Given the description of an element on the screen output the (x, y) to click on. 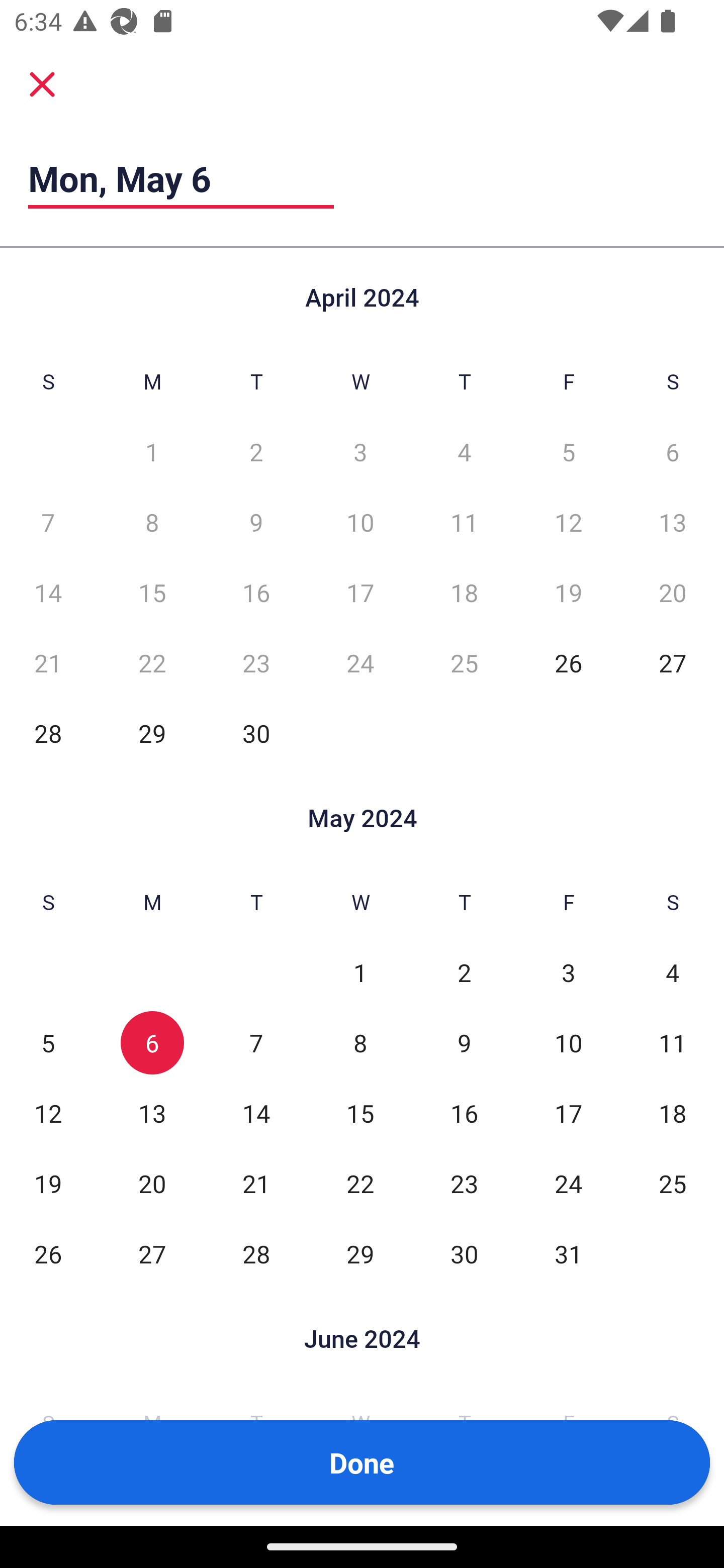
Cancel (41, 83)
Mon, May 6 (180, 178)
1 Mon, Apr 1, Not Selected (152, 452)
2 Tue, Apr 2, Not Selected (256, 452)
3 Wed, Apr 3, Not Selected (360, 452)
4 Thu, Apr 4, Not Selected (464, 452)
5 Fri, Apr 5, Not Selected (568, 452)
6 Sat, Apr 6, Not Selected (672, 452)
7 Sun, Apr 7, Not Selected (48, 521)
8 Mon, Apr 8, Not Selected (152, 521)
9 Tue, Apr 9, Not Selected (256, 521)
10 Wed, Apr 10, Not Selected (360, 521)
11 Thu, Apr 11, Not Selected (464, 521)
12 Fri, Apr 12, Not Selected (568, 521)
13 Sat, Apr 13, Not Selected (672, 521)
14 Sun, Apr 14, Not Selected (48, 591)
15 Mon, Apr 15, Not Selected (152, 591)
16 Tue, Apr 16, Not Selected (256, 591)
17 Wed, Apr 17, Not Selected (360, 591)
18 Thu, Apr 18, Not Selected (464, 591)
19 Fri, Apr 19, Not Selected (568, 591)
20 Sat, Apr 20, Not Selected (672, 591)
21 Sun, Apr 21, Not Selected (48, 662)
22 Mon, Apr 22, Not Selected (152, 662)
23 Tue, Apr 23, Not Selected (256, 662)
24 Wed, Apr 24, Not Selected (360, 662)
25 Thu, Apr 25, Not Selected (464, 662)
26 Fri, Apr 26, Not Selected (568, 662)
27 Sat, Apr 27, Not Selected (672, 662)
28 Sun, Apr 28, Not Selected (48, 732)
29 Mon, Apr 29, Not Selected (152, 732)
30 Tue, Apr 30, Not Selected (256, 732)
1 Wed, May 1, Not Selected (360, 972)
2 Thu, May 2, Not Selected (464, 972)
3 Fri, May 3, Not Selected (568, 972)
4 Sat, May 4, Not Selected (672, 972)
5 Sun, May 5, Not Selected (48, 1043)
6 Mon, May 6, Selected (152, 1043)
7 Tue, May 7, Not Selected (256, 1043)
8 Wed, May 8, Not Selected (360, 1043)
9 Thu, May 9, Not Selected (464, 1043)
10 Fri, May 10, Not Selected (568, 1043)
11 Sat, May 11, Not Selected (672, 1043)
12 Sun, May 12, Not Selected (48, 1112)
13 Mon, May 13, Not Selected (152, 1112)
14 Tue, May 14, Not Selected (256, 1112)
15 Wed, May 15, Not Selected (360, 1112)
16 Thu, May 16, Not Selected (464, 1112)
17 Fri, May 17, Not Selected (568, 1112)
18 Sat, May 18, Not Selected (672, 1112)
19 Sun, May 19, Not Selected (48, 1182)
20 Mon, May 20, Not Selected (152, 1182)
21 Tue, May 21, Not Selected (256, 1182)
22 Wed, May 22, Not Selected (360, 1182)
23 Thu, May 23, Not Selected (464, 1182)
24 Fri, May 24, Not Selected (568, 1182)
25 Sat, May 25, Not Selected (672, 1182)
26 Sun, May 26, Not Selected (48, 1253)
27 Mon, May 27, Not Selected (152, 1253)
28 Tue, May 28, Not Selected (256, 1253)
29 Wed, May 29, Not Selected (360, 1253)
30 Thu, May 30, Not Selected (464, 1253)
31 Fri, May 31, Not Selected (568, 1253)
Done Button Done (361, 1462)
